Given the description of an element on the screen output the (x, y) to click on. 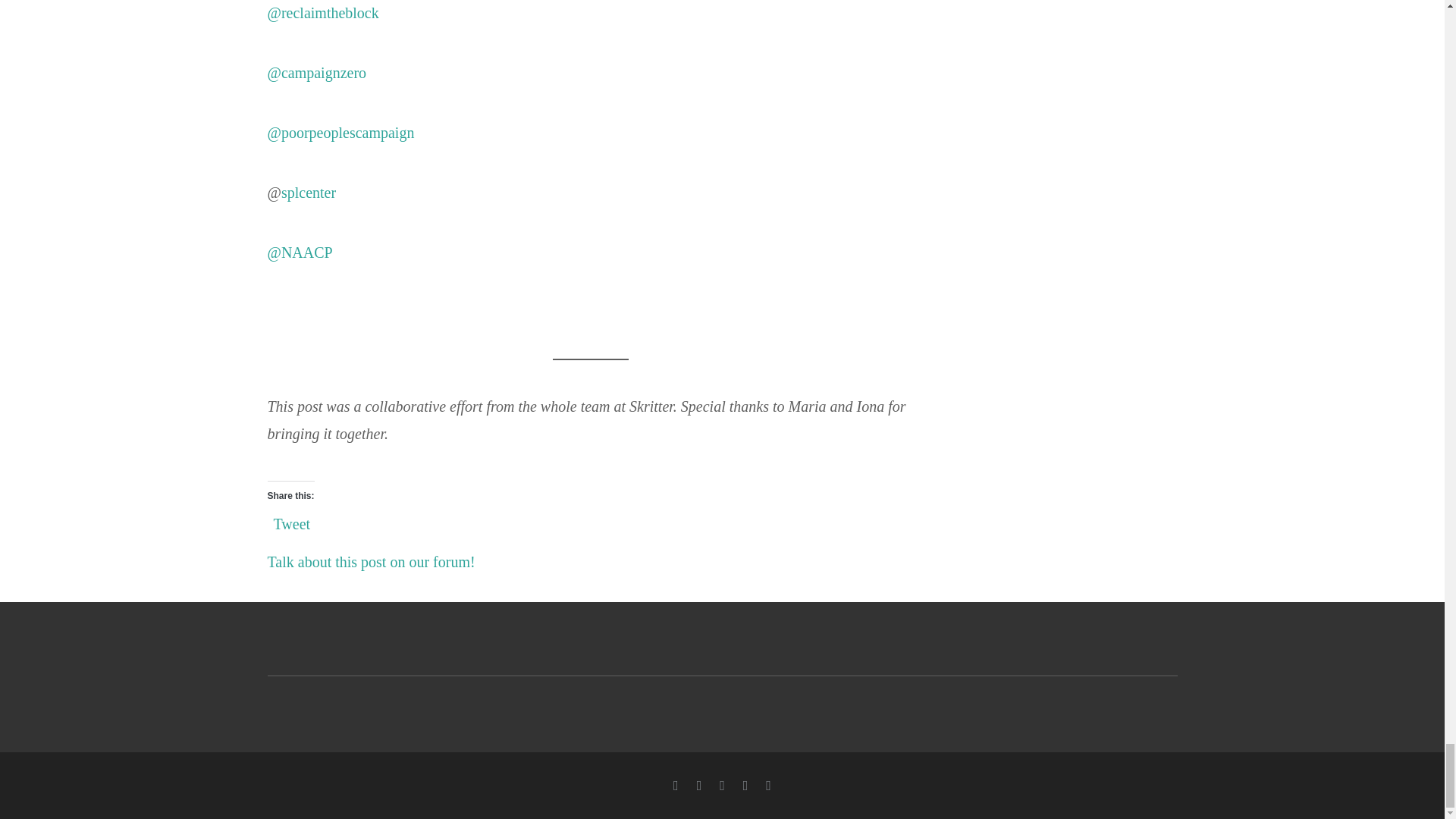
YouTube (722, 785)
Instagram (745, 785)
Facebook (675, 785)
RSS (768, 785)
